Given the description of an element on the screen output the (x, y) to click on. 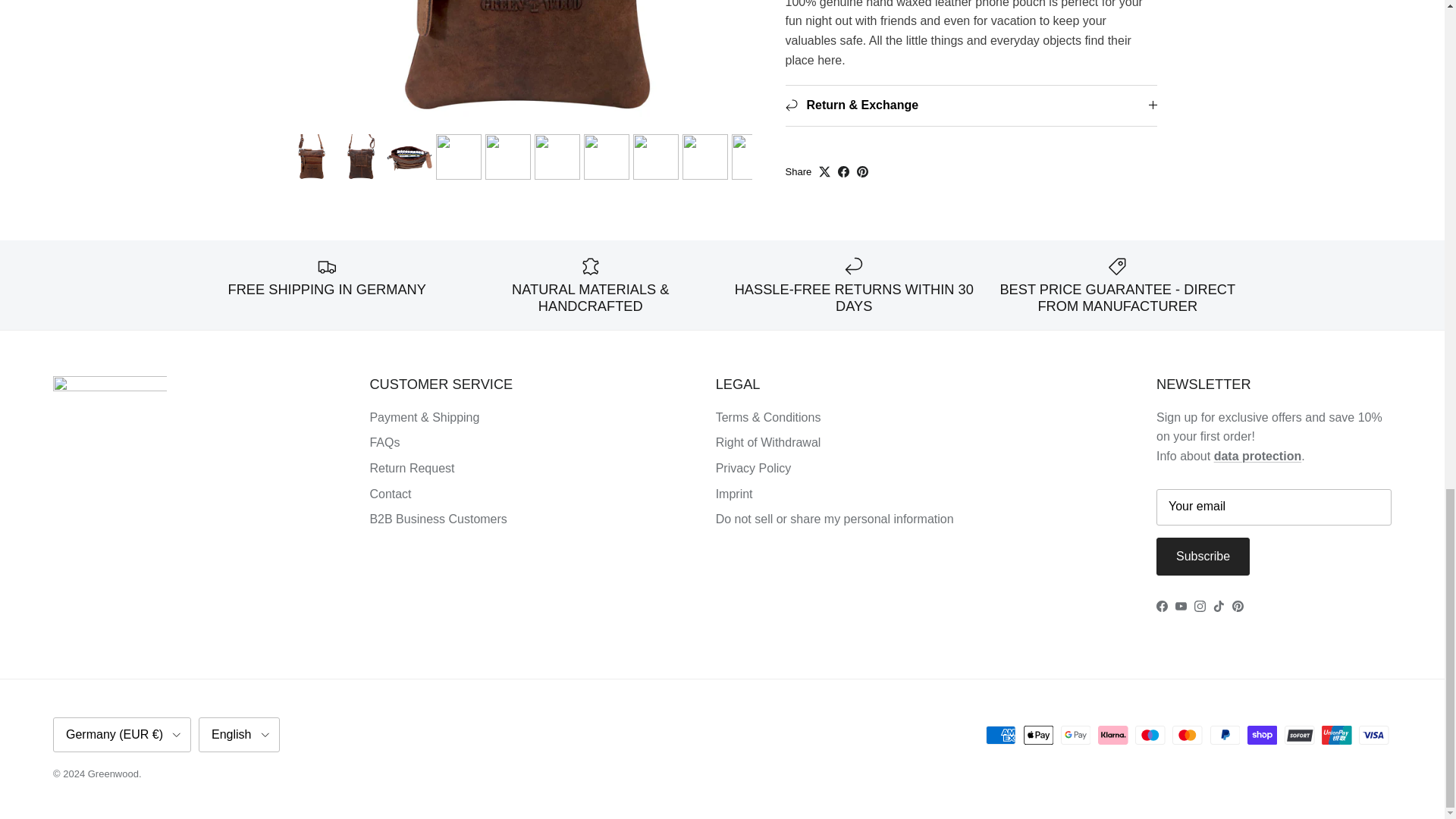
Share on Facebook (843, 152)
Pin on Pinterest (862, 152)
Greenwood on Instagram (1199, 605)
Tweet on X (823, 152)
Greenwood on Facebook (1161, 605)
Greenwood on TikTok (1218, 605)
Greenwood on YouTube (1180, 605)
greenwood data protection (1257, 455)
